Given the description of an element on the screen output the (x, y) to click on. 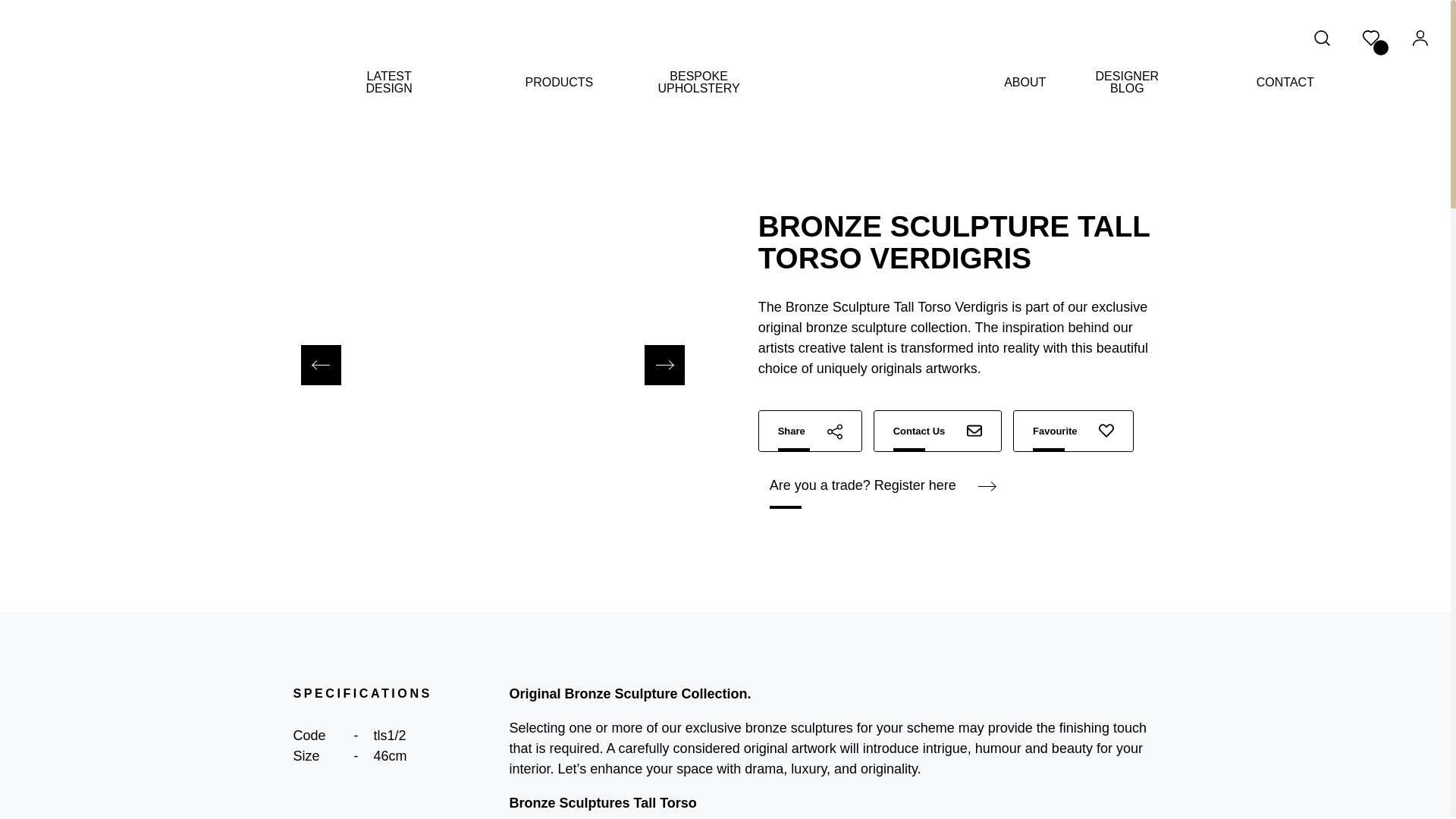
Favourite (1073, 431)
CONTACT (1285, 82)
Objet (517, 113)
DESIGNER BLOG (1127, 82)
Products (458, 113)
ABOUT (1024, 82)
Back (341, 113)
Share (809, 431)
BESPOKE UPHOLSTERY (698, 82)
Contact Us (937, 431)
LATEST DESIGN (388, 82)
PRODUCTS (558, 82)
